Given the description of an element on the screen output the (x, y) to click on. 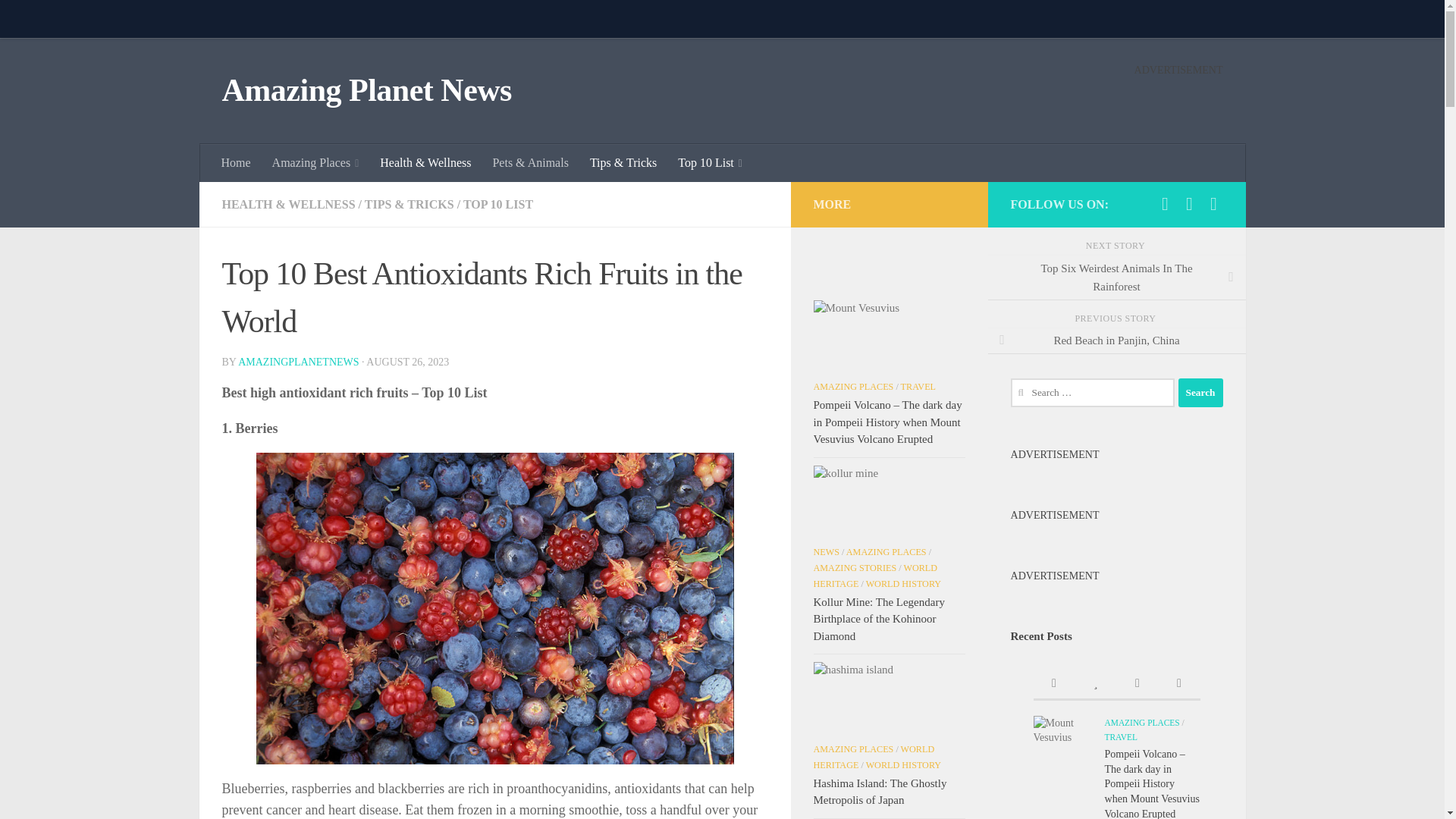
Skip to content (59, 20)
Popular Posts (1095, 684)
Search (1200, 392)
Top 10 List (709, 162)
Amazing Planet News (366, 90)
Posts by amazingplanetnews (298, 361)
TOP 10 LIST (497, 204)
Follow us on Instagram (1213, 203)
Search (1200, 392)
Home (236, 162)
Recent Posts (1053, 684)
Amazing Places (315, 162)
Follow us on Twitter (1188, 203)
AMAZINGPLANETNEWS (298, 361)
Follow us on Facebook (1164, 203)
